Given the description of an element on the screen output the (x, y) to click on. 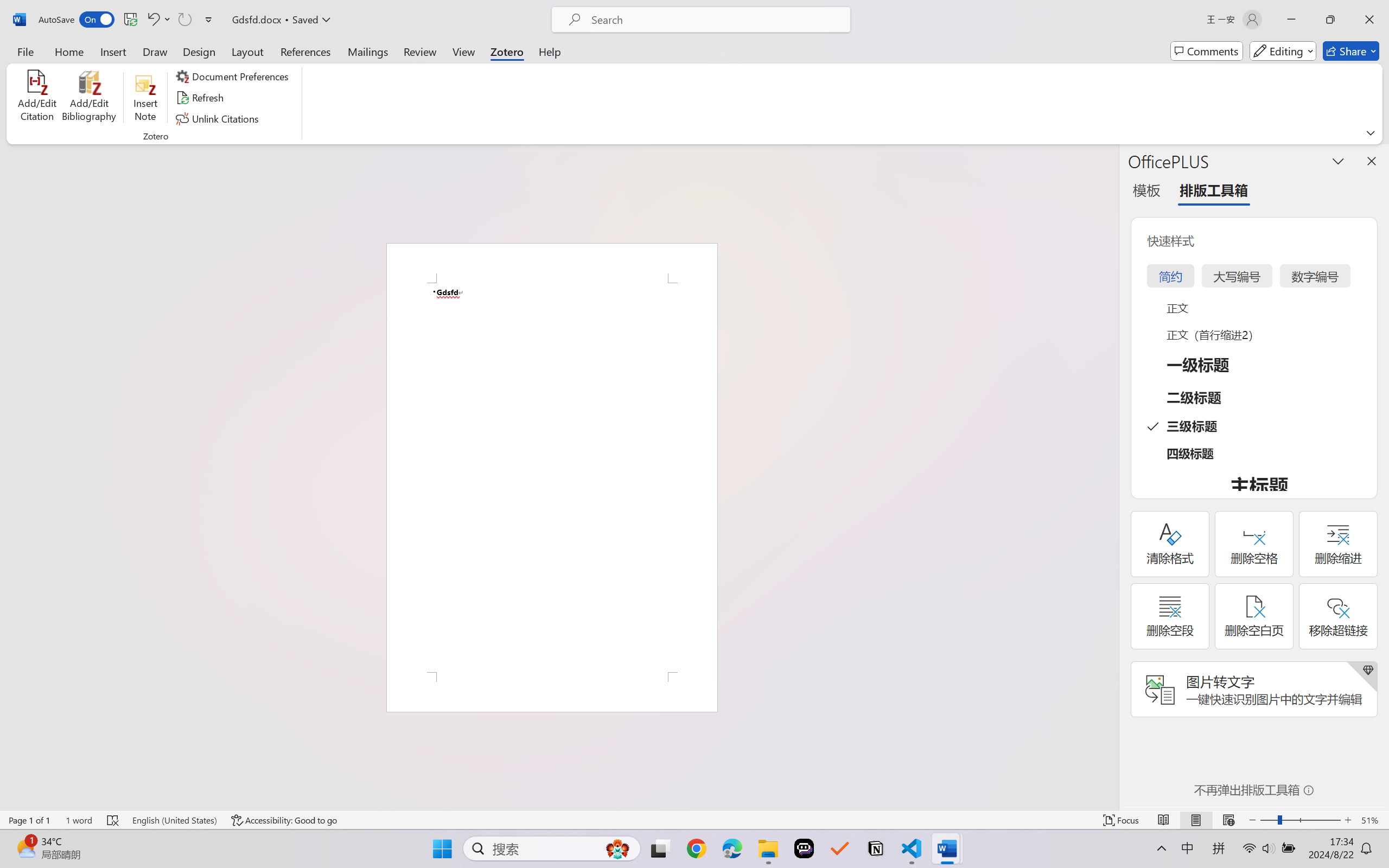
Refresh (201, 97)
Page 1 content (552, 476)
